Given the description of an element on the screen output the (x, y) to click on. 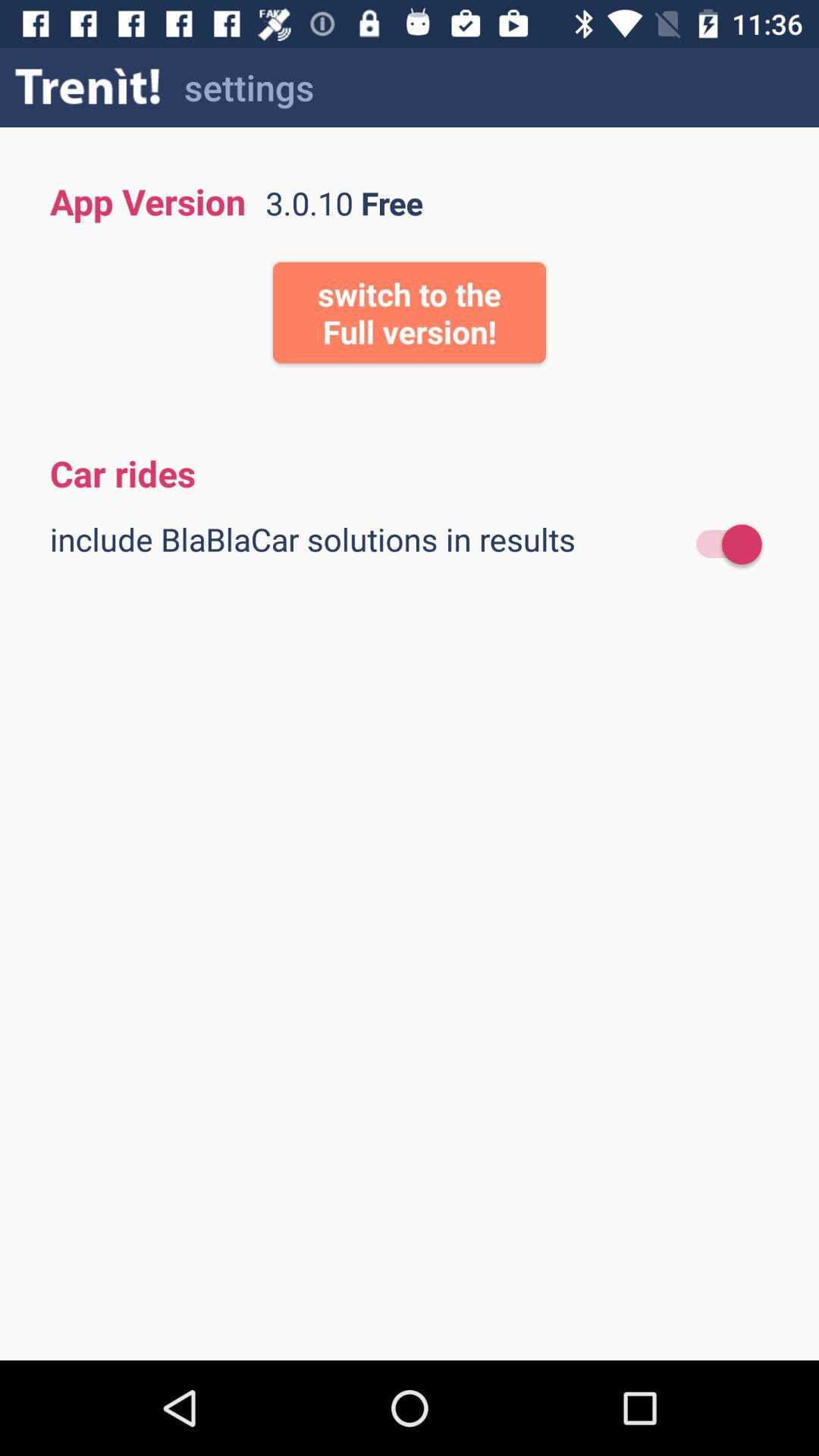
switch to filter (721, 544)
